Given the description of an element on the screen output the (x, y) to click on. 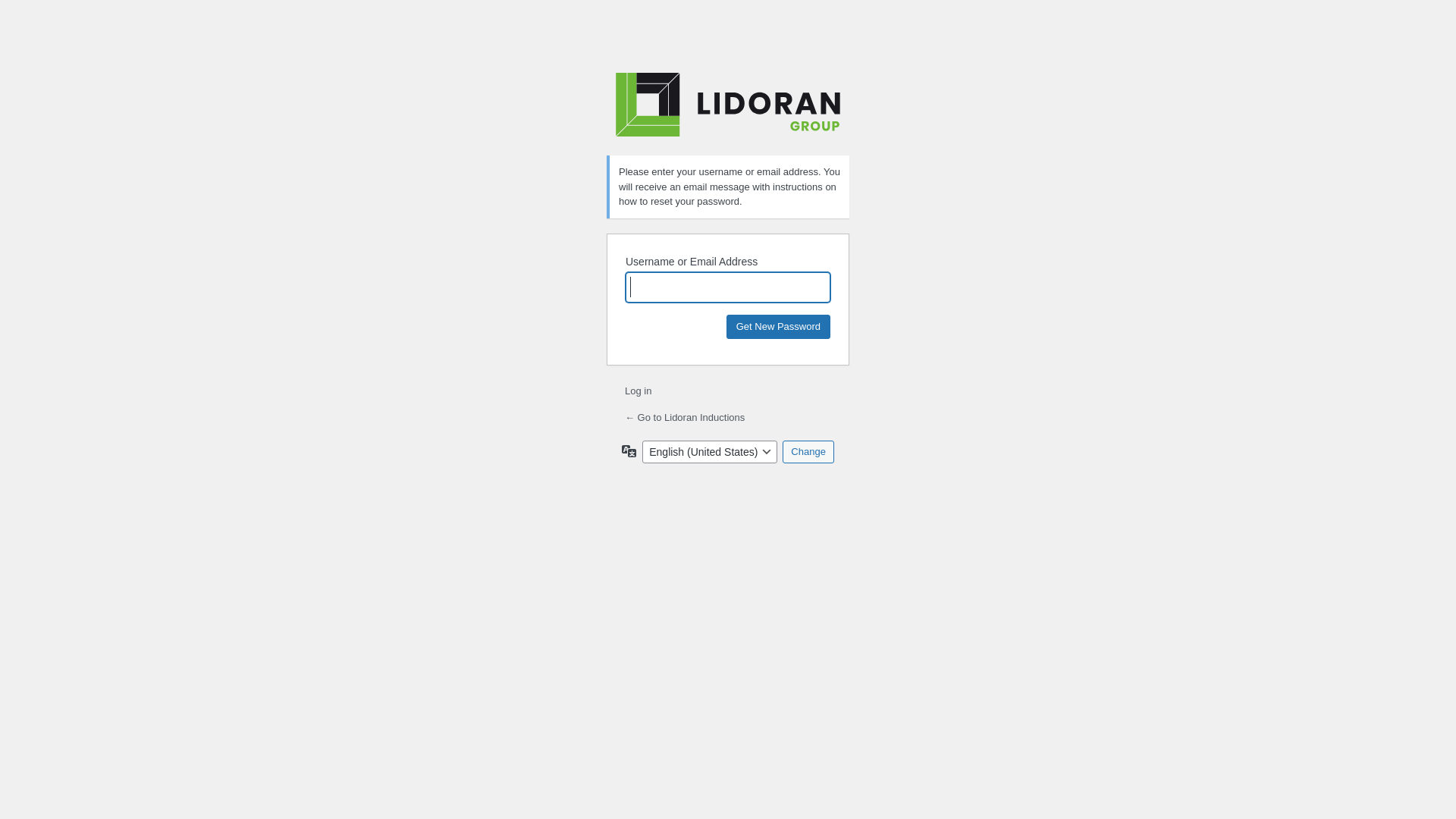
Get New Password Element type: text (778, 325)
Log in Element type: text (637, 390)
Change Element type: text (808, 450)
Lidoran Inductions Element type: text (727, 104)
